Given the description of an element on the screen output the (x, y) to click on. 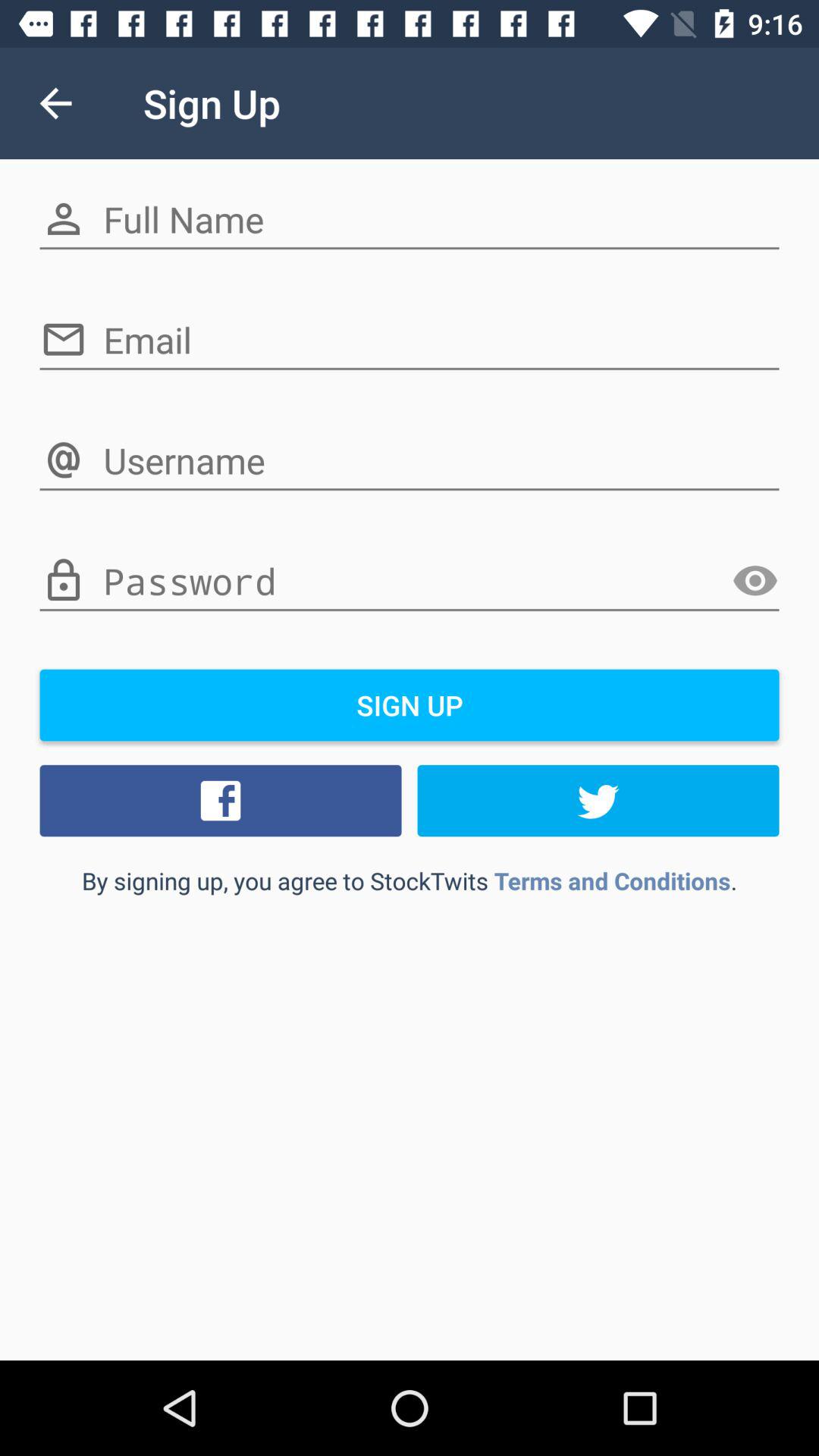
choose the by signing up item (409, 880)
